Given the description of an element on the screen output the (x, y) to click on. 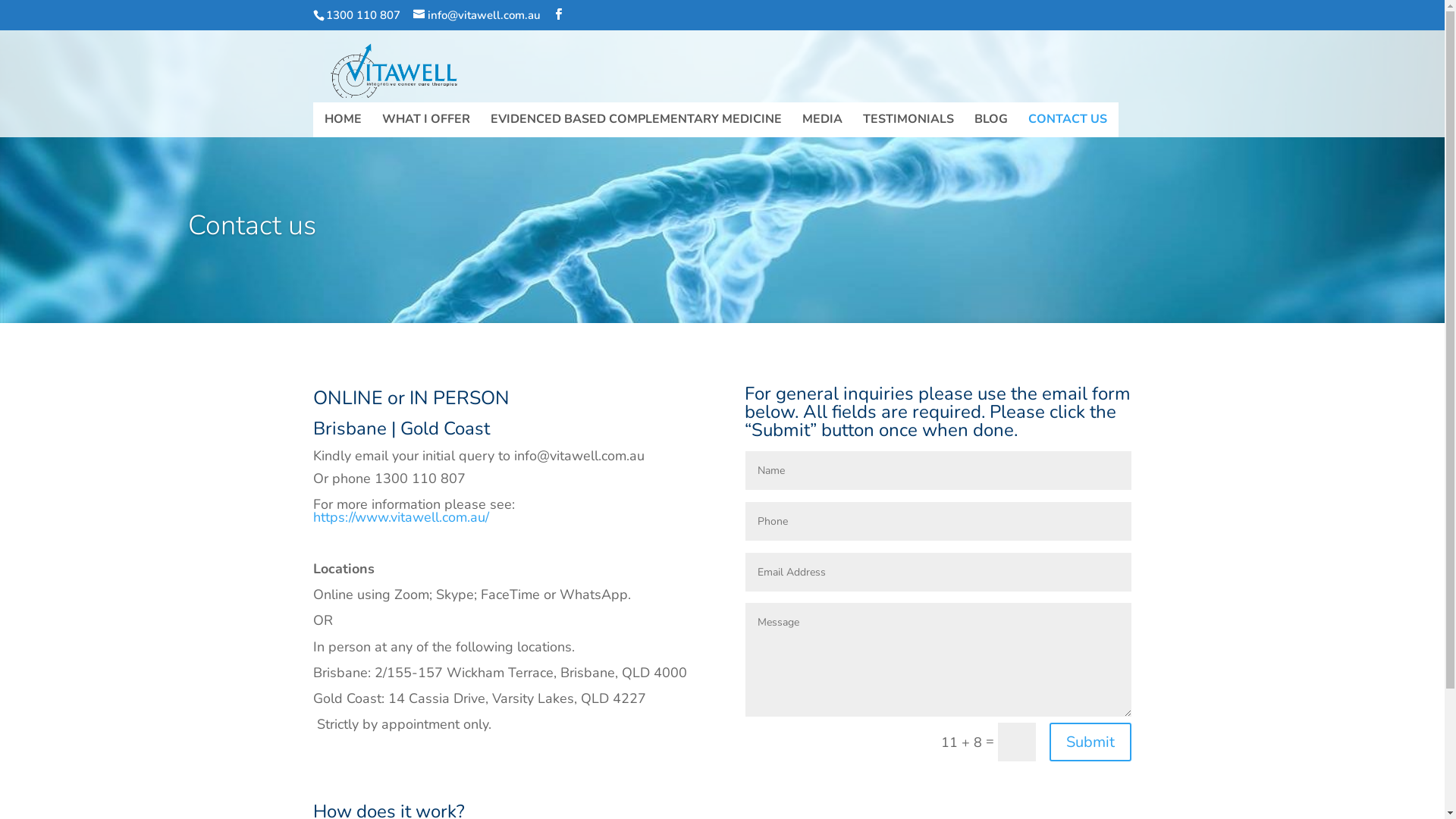
CONTACT US Element type: text (1067, 125)
MEDIA Element type: text (822, 125)
Submit Element type: text (1090, 741)
BLOG Element type: text (990, 125)
HOME Element type: text (342, 125)
info@vitawell.com.au Element type: text (475, 14)
EVIDENCED BASED COMPLEMENTARY MEDICINE Element type: text (635, 125)
https://www.vitawell.com.au/ Element type: text (400, 517)
TESTIMONIALS Element type: text (907, 125)
WHAT I OFFER Element type: text (426, 125)
